Given the description of an element on the screen output the (x, y) to click on. 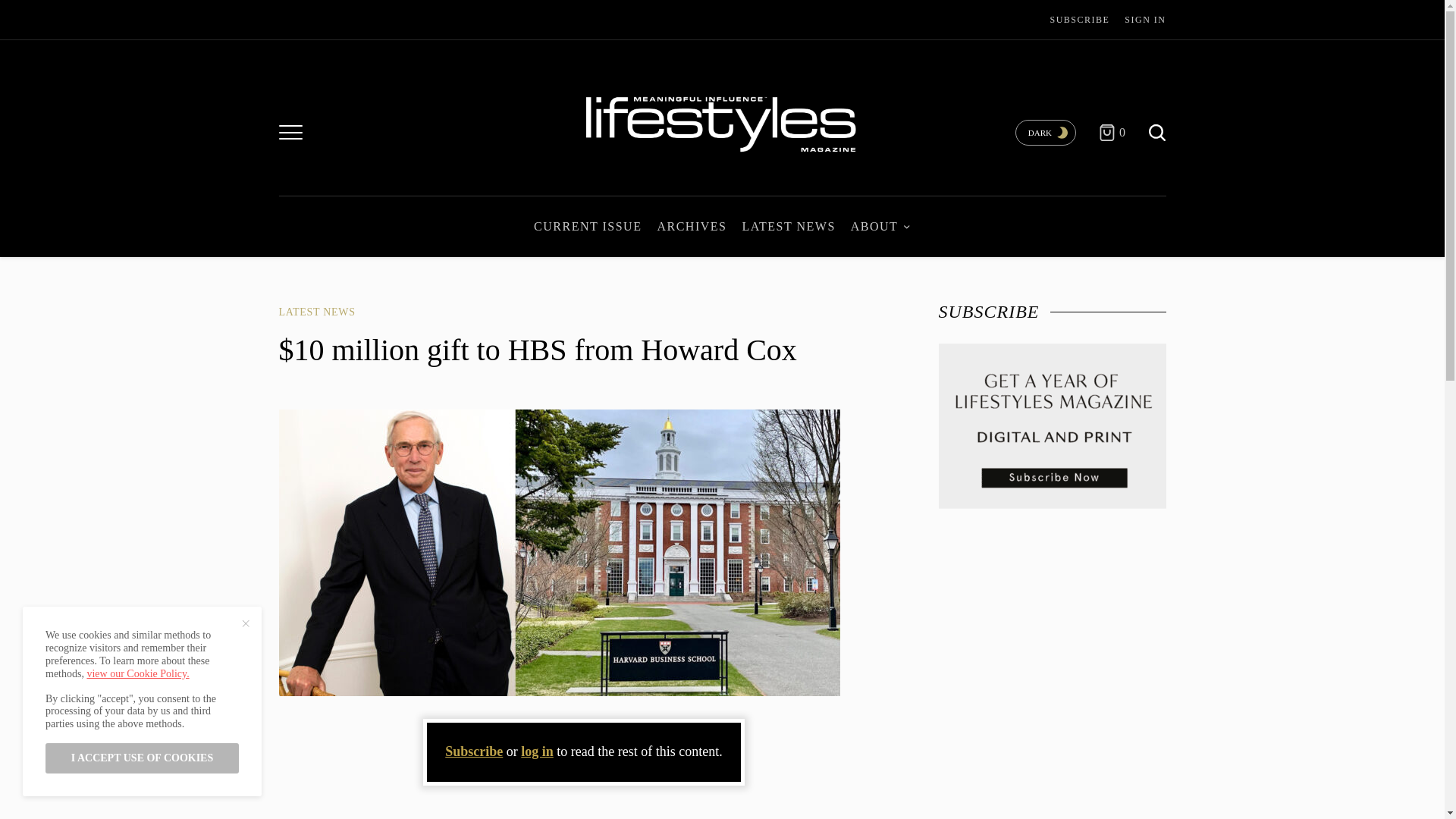
LATEST NEWS (787, 226)
SIGN IN (1145, 19)
Subscribe (473, 751)
CURRENT ISSUE (588, 226)
log in (537, 751)
ARCHIVES (691, 226)
LATEST NEWS (317, 312)
SUBSCRIBE (1079, 19)
ABOUT (880, 226)
Lifestyles Magazine (720, 121)
